Given the description of an element on the screen output the (x, y) to click on. 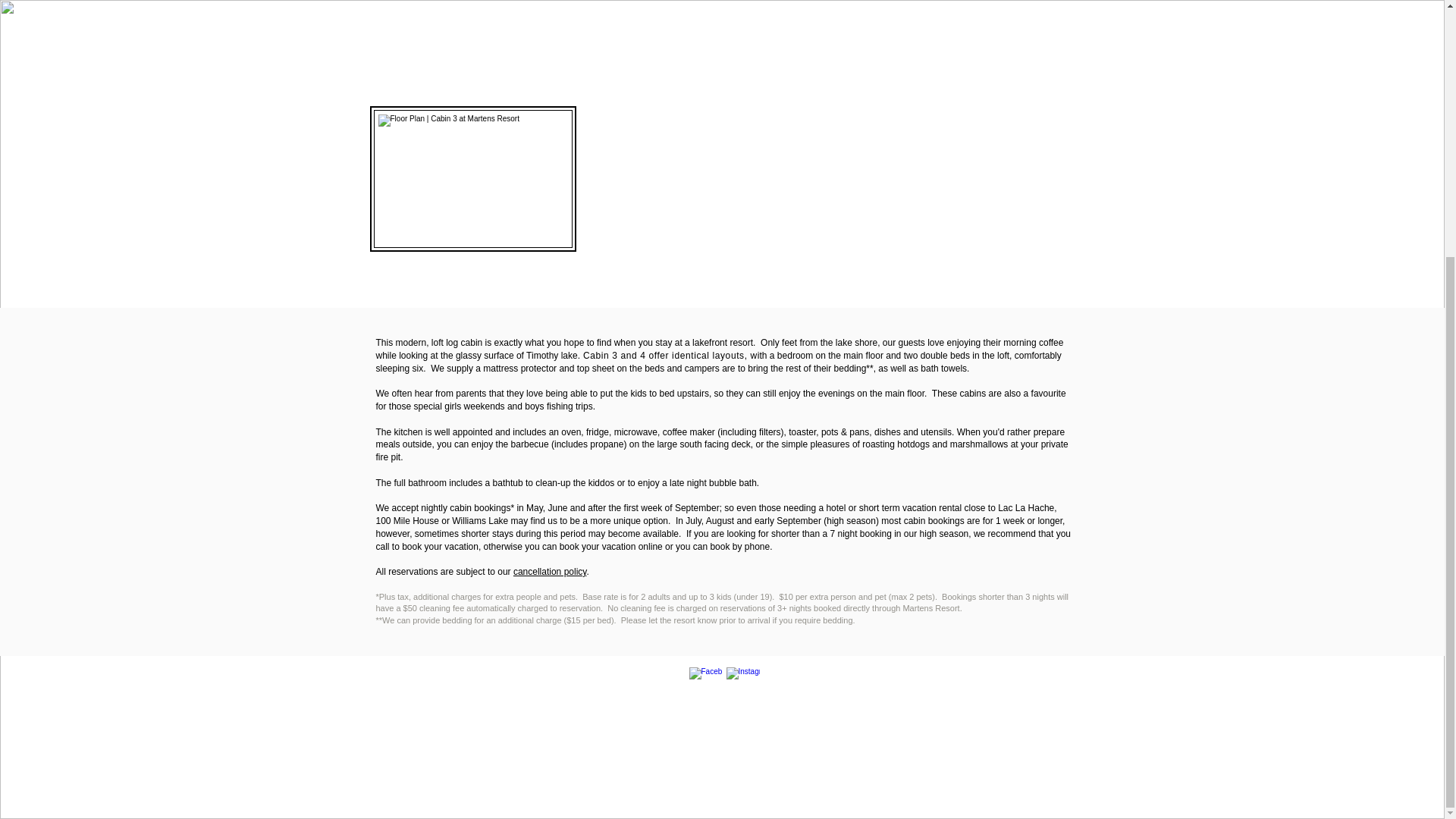
cancellation policy (549, 571)
PRIVACY POLICY (997, 811)
CANCELLATION POLICY (994, 752)
TERMS AND CONDITIONS (1014, 783)
BOOK A VACATION RENTAL IN BC'S SOUTH CARIBOO (435, 680)
CONTACT US (989, 672)
